Given the description of an element on the screen output the (x, y) to click on. 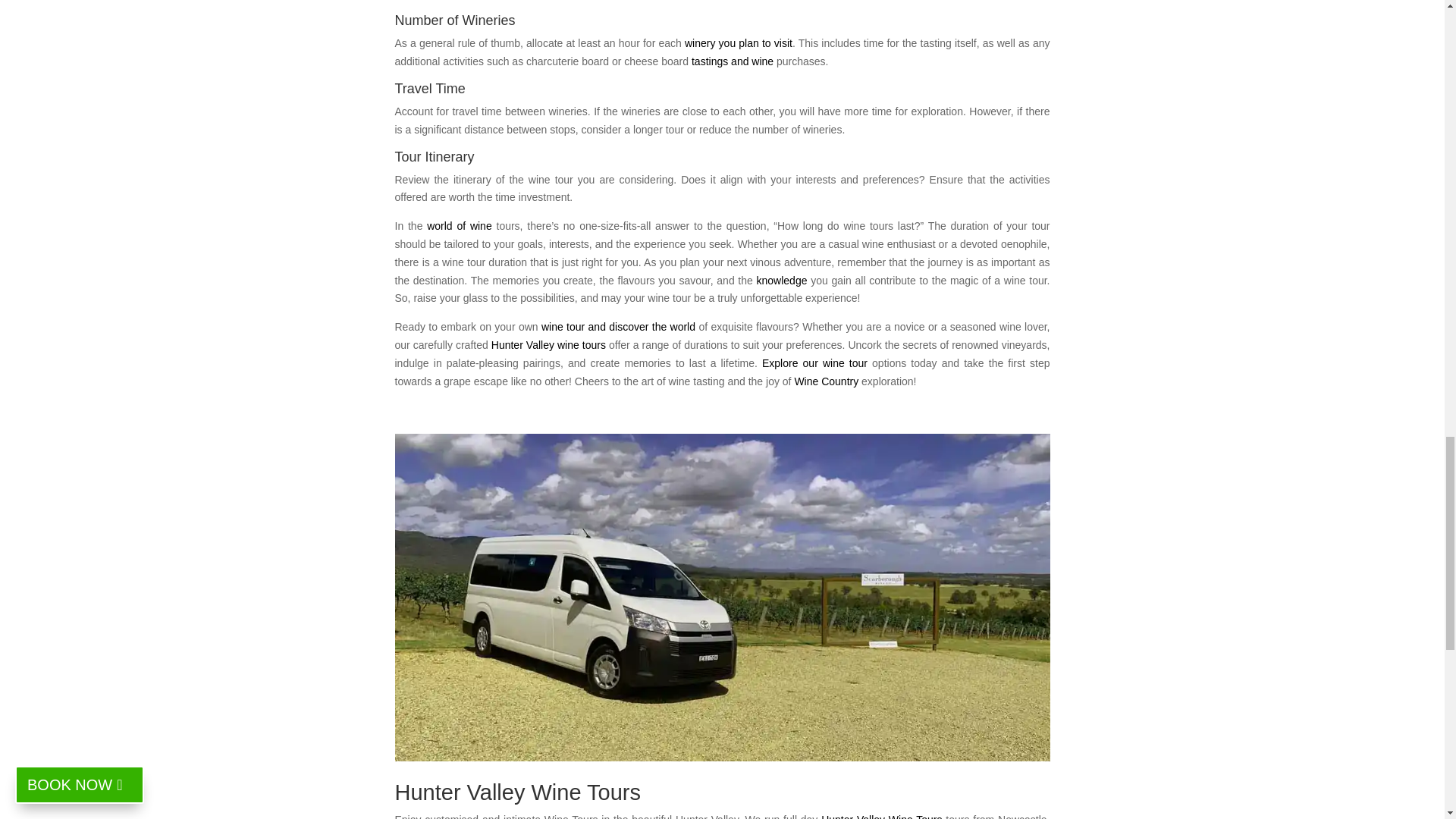
Wine Country (826, 380)
Hunter Valley wine tours (548, 345)
Hunter Valley Wine Tours (881, 816)
